Given the description of an element on the screen output the (x, y) to click on. 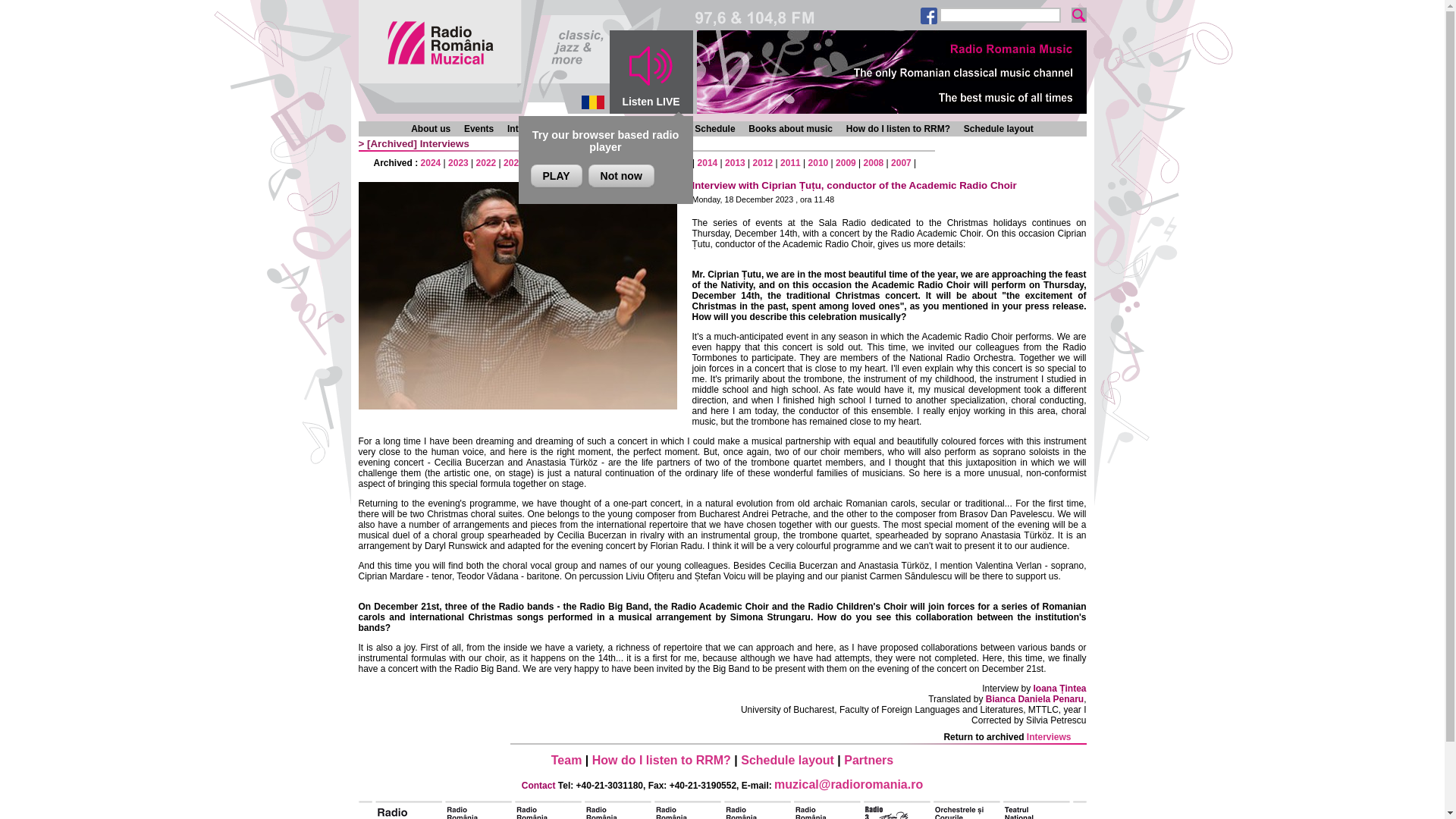
Team (566, 759)
Schedule (714, 128)
2012 (762, 163)
2022 (486, 163)
2021 (513, 163)
2020 (541, 163)
Interviews (528, 128)
Schedule layout (998, 128)
banner central 2014-10-31 (890, 71)
Chronicles (587, 128)
Books about music (790, 128)
PLAY (556, 175)
2013 (735, 163)
About us (429, 128)
Events (478, 128)
